Given the description of an element on the screen output the (x, y) to click on. 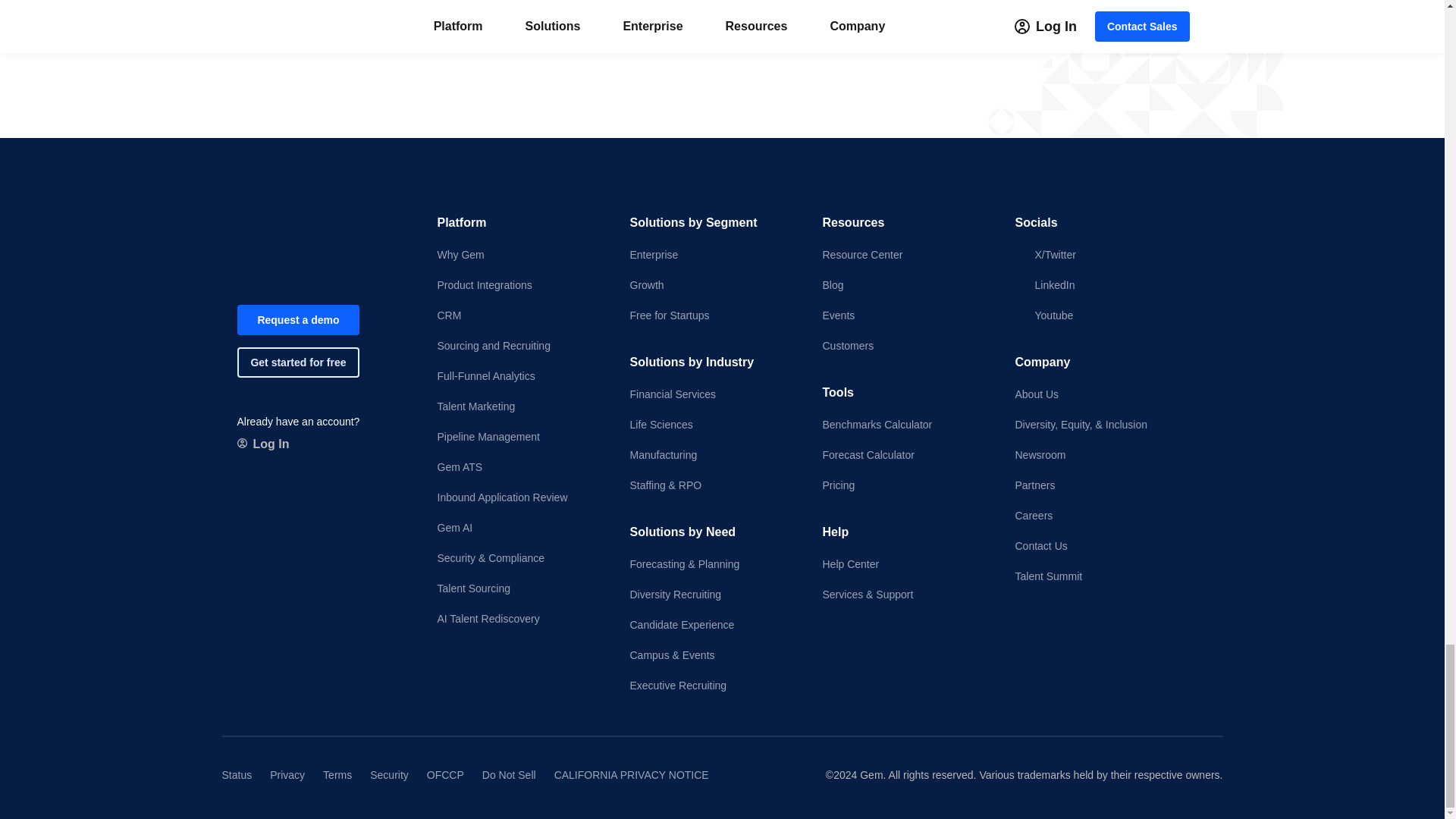
Get started for free (297, 362)
Request a demo (297, 319)
Why Gem (520, 254)
Log In (261, 444)
Product Integrations (520, 284)
